Given the description of an element on the screen output the (x, y) to click on. 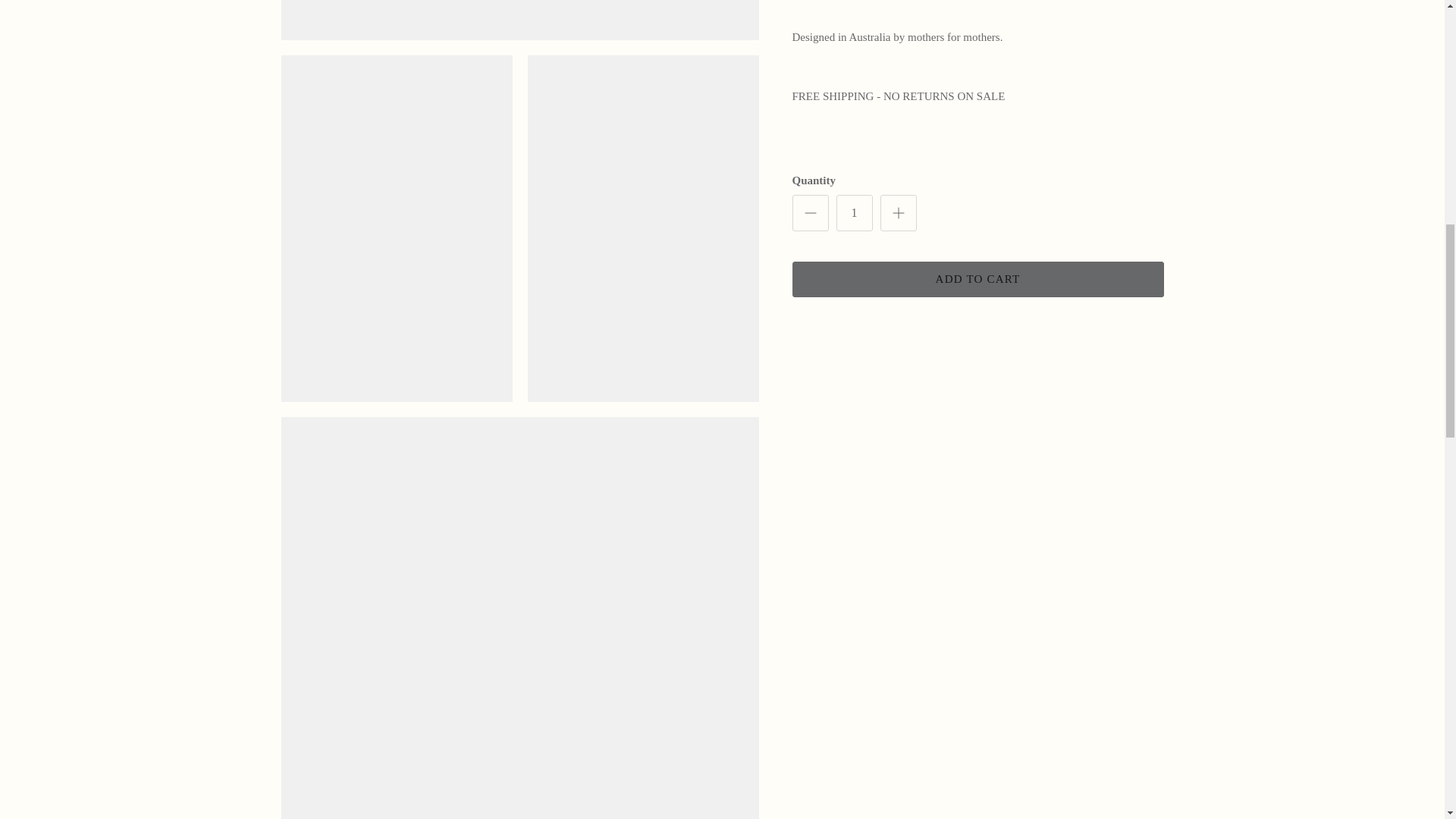
Plus (897, 212)
Minus (809, 212)
1 (853, 212)
